Given the description of an element on the screen output the (x, y) to click on. 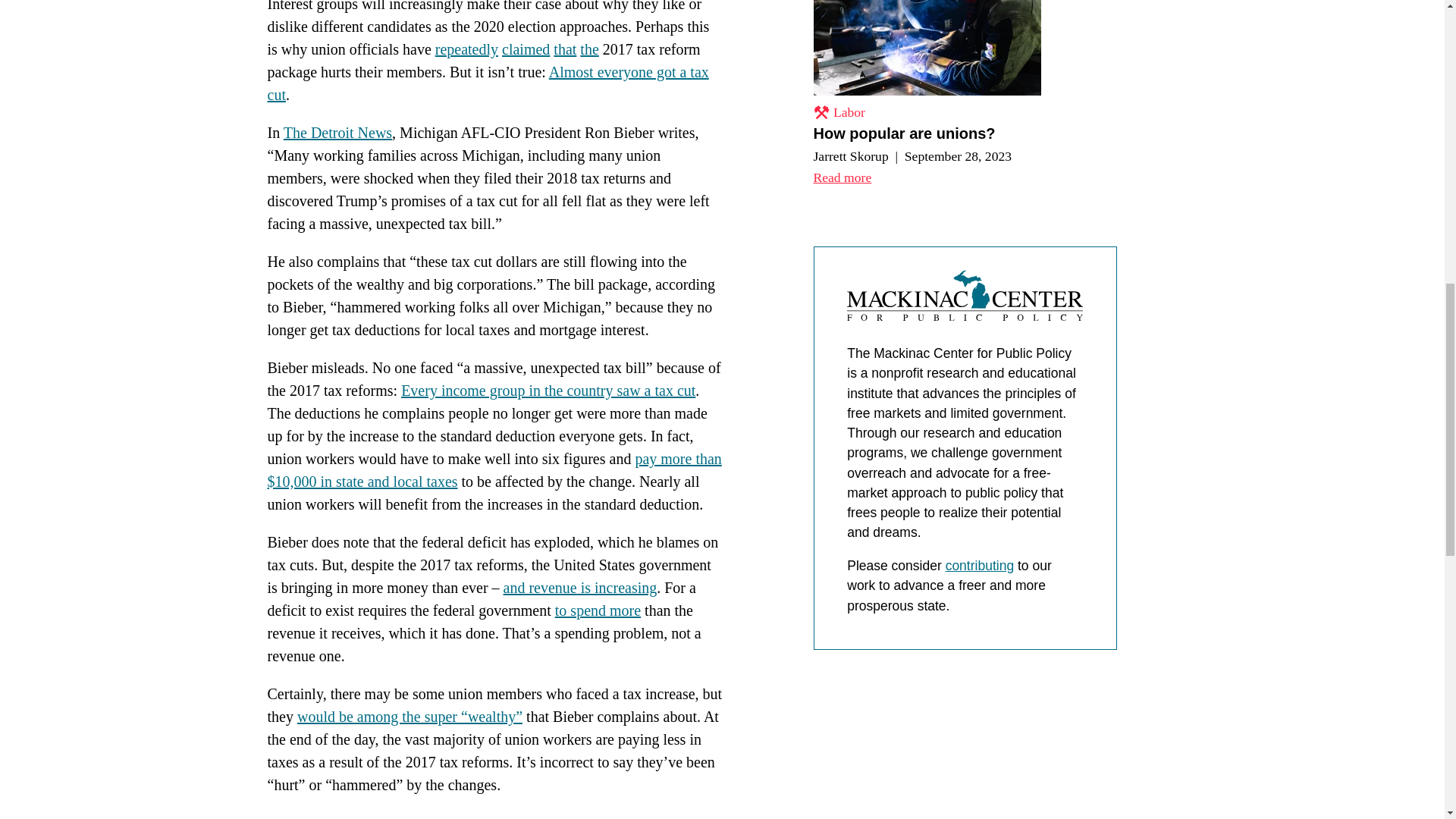
claimed (526, 48)
the (588, 48)
The Detroit News (337, 132)
Labor (838, 111)
to spend more (597, 610)
Every income group in the country saw a tax cut (548, 390)
that (564, 48)
Almost everyone got a tax cut (486, 83)
repeatedly (466, 48)
and revenue is increasing (580, 587)
